Given the description of an element on the screen output the (x, y) to click on. 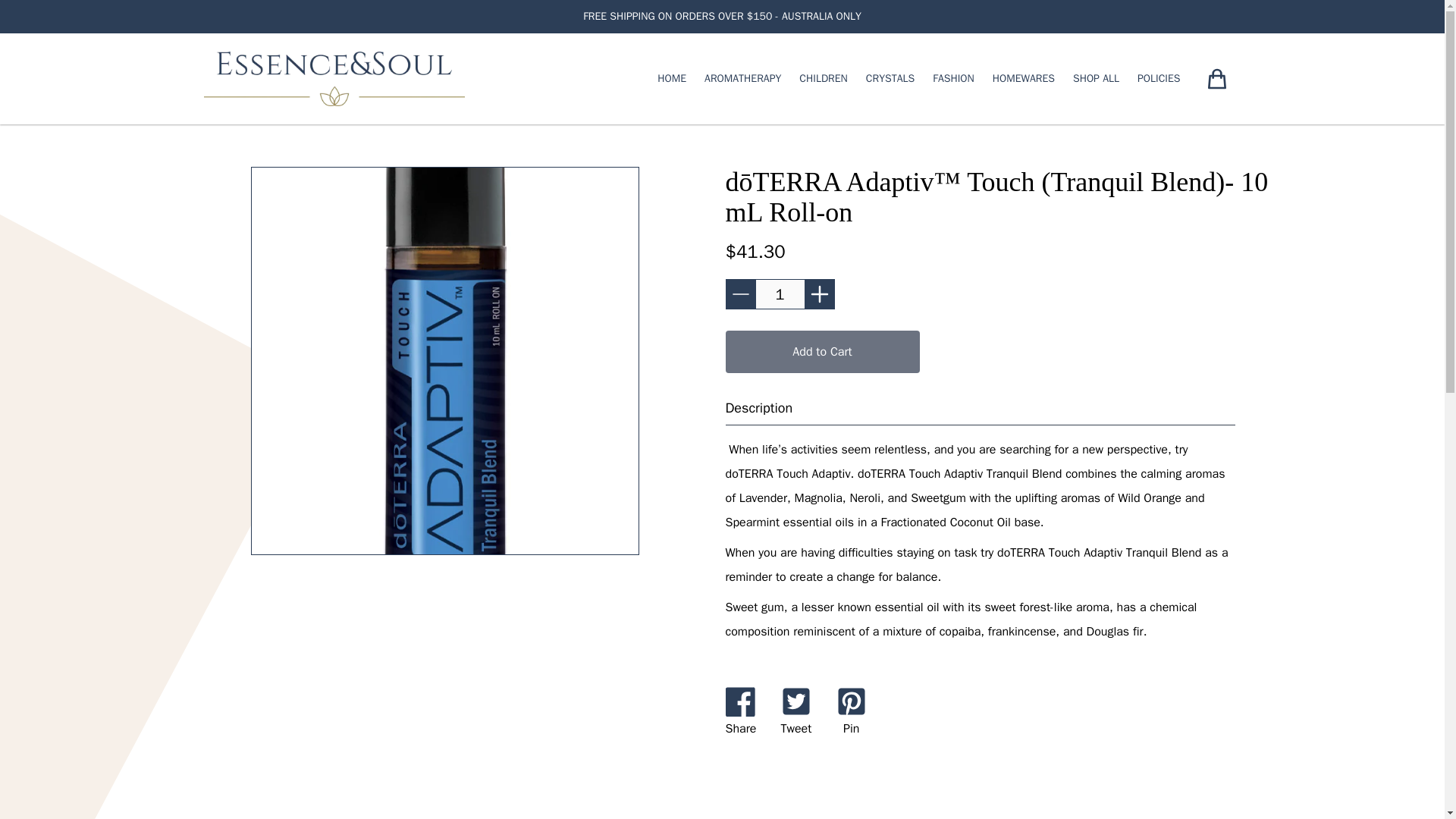
1 (779, 294)
FASHION (953, 78)
AROMATHERAPY (742, 78)
HOME (671, 78)
CRYSTALS (890, 78)
CHILDREN (823, 78)
